Given the description of an element on the screen output the (x, y) to click on. 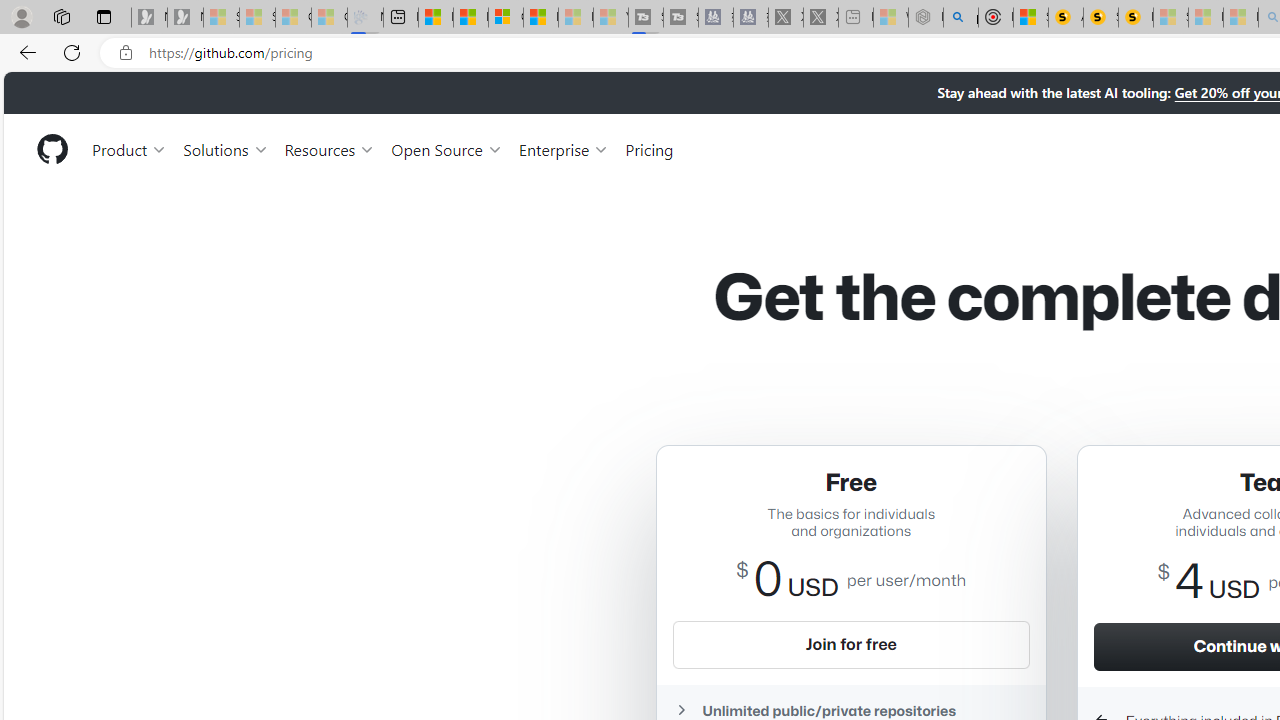
Join for free (851, 643)
